Given the description of an element on the screen output the (x, y) to click on. 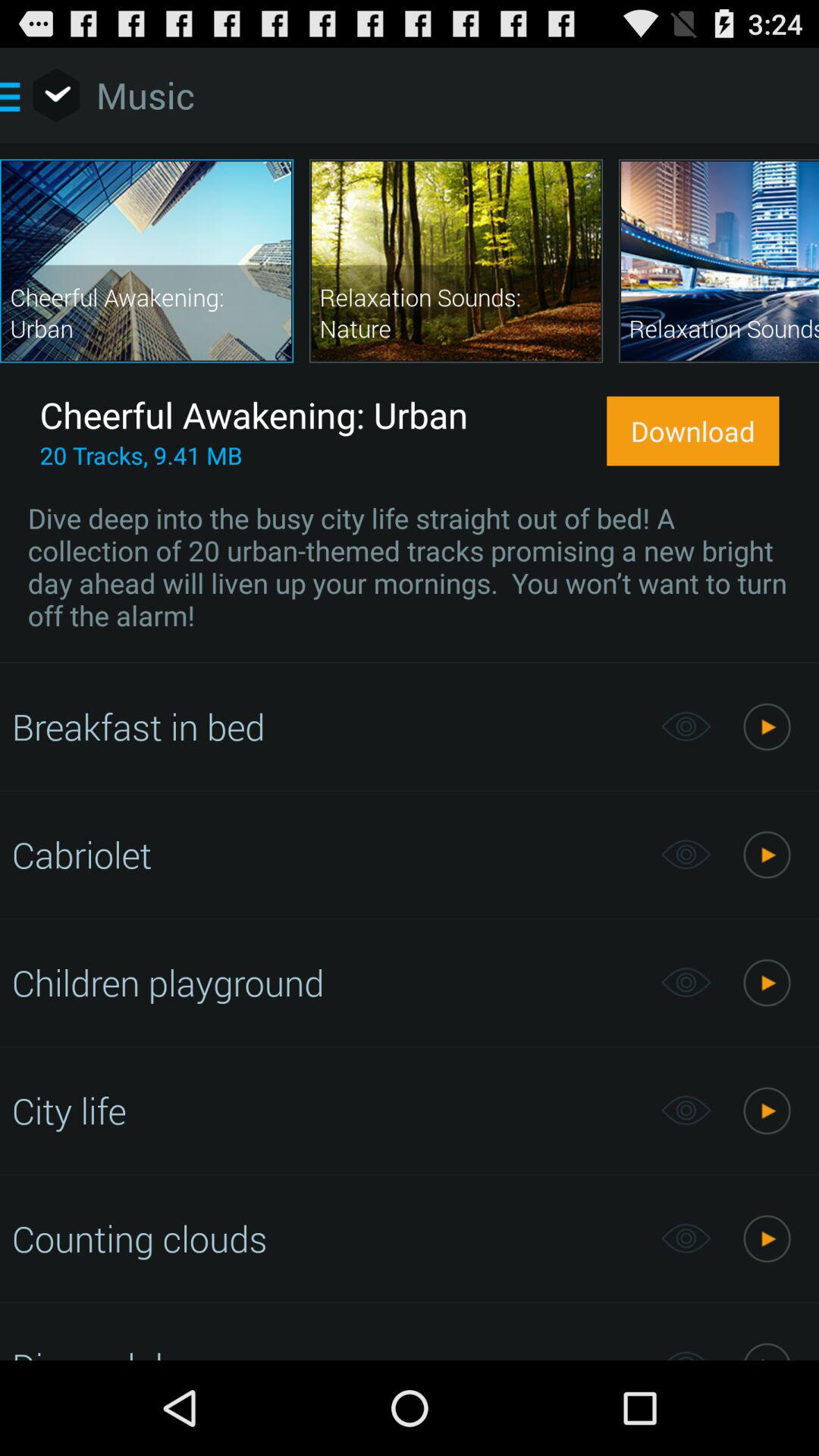
click disco club item (327, 1351)
